Given the description of an element on the screen output the (x, y) to click on. 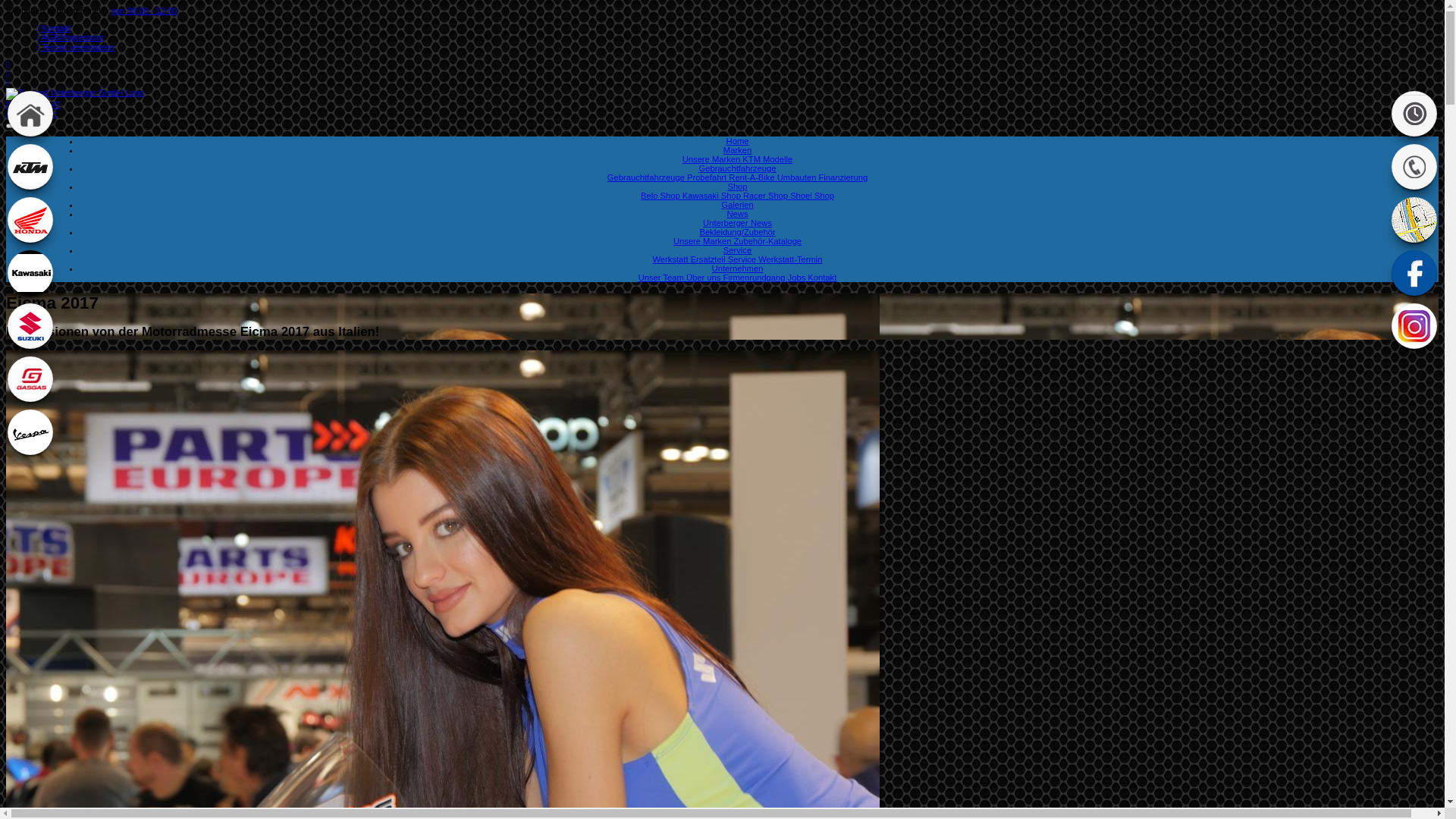
Termin vereinbaren Element type: text (75, 46)
AGB/Impressum Element type: text (69, 36)
von 09:00 - 12:00 Element type: text (143, 10)
Firmenrundgang Element type: text (754, 277)
Unsere Marken Element type: text (703, 240)
Zweirad Unterberger GmbH Logo Element type: hover (75, 93)
Umbauten Element type: text (798, 177)
Kawasaki Shop Element type: text (712, 195)
Probefahrt Element type: text (707, 177)
Jobs Element type: text (797, 277)
Shoei Shop Element type: text (812, 195)
Shop Element type: text (736, 186)
Kontakt Element type: text (821, 277)
Unterberger News Element type: text (736, 222)
News Element type: text (736, 213)
Finanzierung Element type: text (842, 177)
Werkstatt-Termin Element type: text (790, 258)
KTM Modelle Element type: text (767, 158)
06132 / 25547 Element type: text (33, 104)
info@2rad.cc Element type: text (31, 113)
Belo Shop Element type: text (661, 195)
Marken Element type: text (737, 149)
Werkstatt Element type: text (671, 258)
Gebrauchtfahrzeuge Element type: text (647, 177)
Kontakt Element type: text (53, 27)
Ersatzteil Service Element type: text (724, 258)
Gebrauchtfahrzeuge Element type: text (737, 167)
Racer Shop Element type: text (766, 195)
Unsere Marken Element type: text (712, 158)
Service Element type: text (737, 249)
Home Element type: text (737, 140)
Galerien Element type: text (737, 204)
Unser Team Element type: text (662, 277)
Rent-A-Bike Element type: text (752, 177)
Unternehmen Element type: text (737, 268)
